Given the description of an element on the screen output the (x, y) to click on. 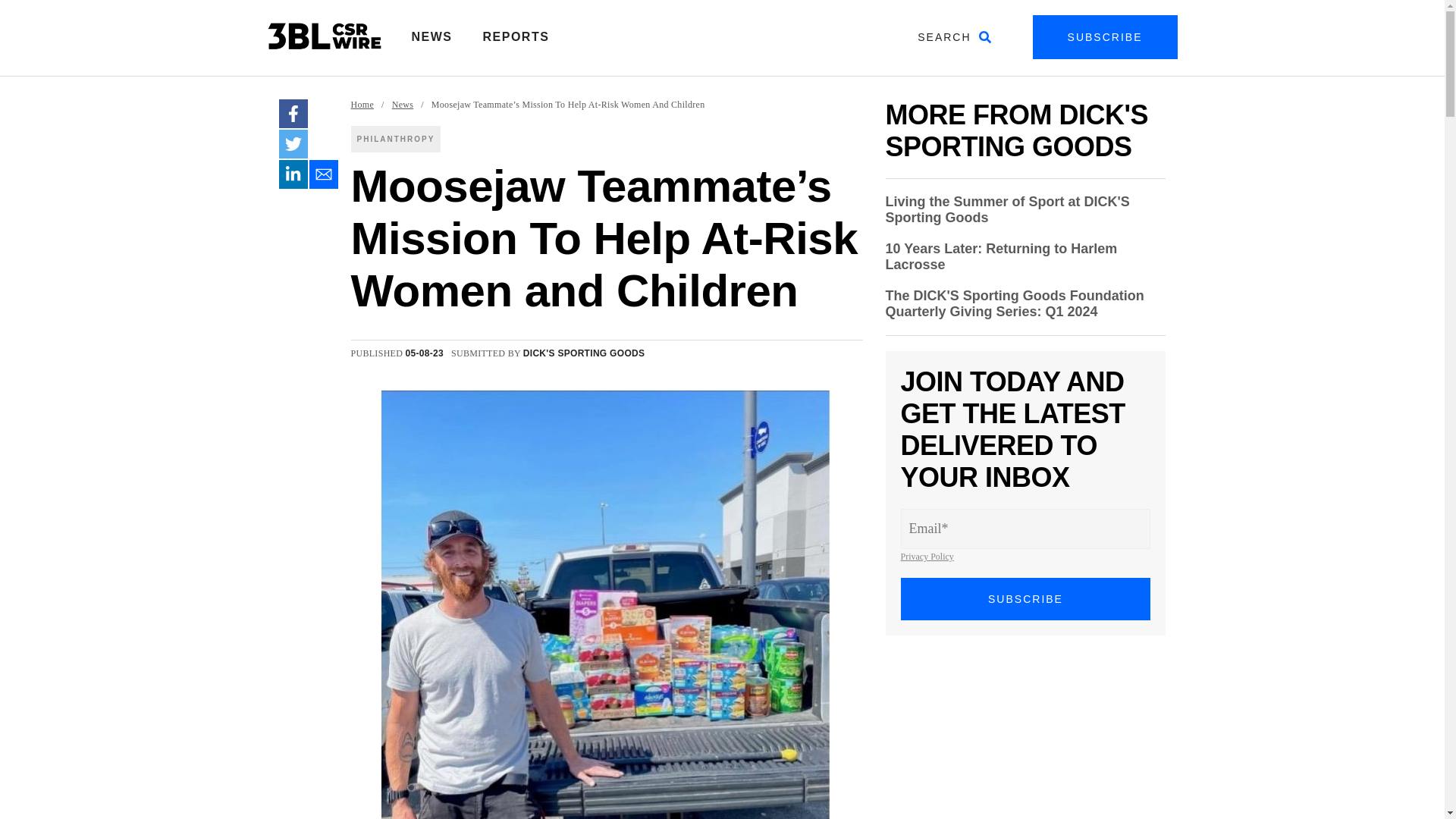
Twitter (293, 143)
Linkedin (293, 174)
Home (362, 104)
Privacy Policy (927, 556)
News (402, 104)
PHILANTHROPY (395, 139)
SUBSCRIBE (1026, 598)
Facebook (293, 113)
SUBSCRIBE (1104, 36)
10 Years Later: Returning to Harlem Lacrosse (1001, 255)
Living the Summer of Sport at DICK'S Sporting Goods (1007, 209)
SEARCH (953, 36)
